Given the description of an element on the screen output the (x, y) to click on. 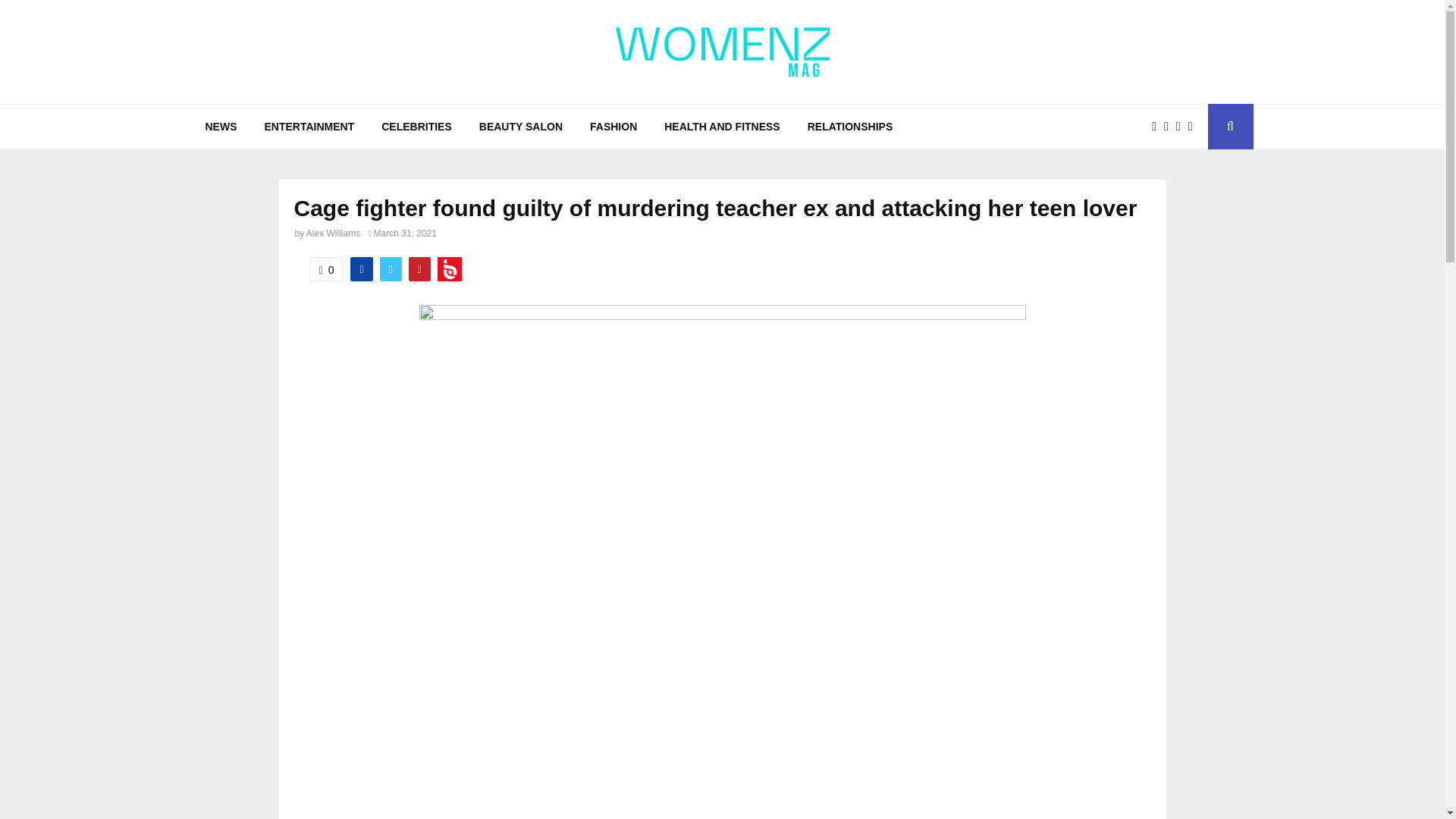
ENTERTAINMENT (309, 126)
BEAUTY SALON (520, 126)
NEWS (220, 126)
Advertisement (722, 748)
CELEBRITIES (416, 126)
Like (325, 269)
HEALTH AND FITNESS (721, 126)
Alex Williams (332, 233)
0 (325, 269)
FASHION (613, 126)
RELATIONSHIPS (850, 126)
